Given the description of an element on the screen output the (x, y) to click on. 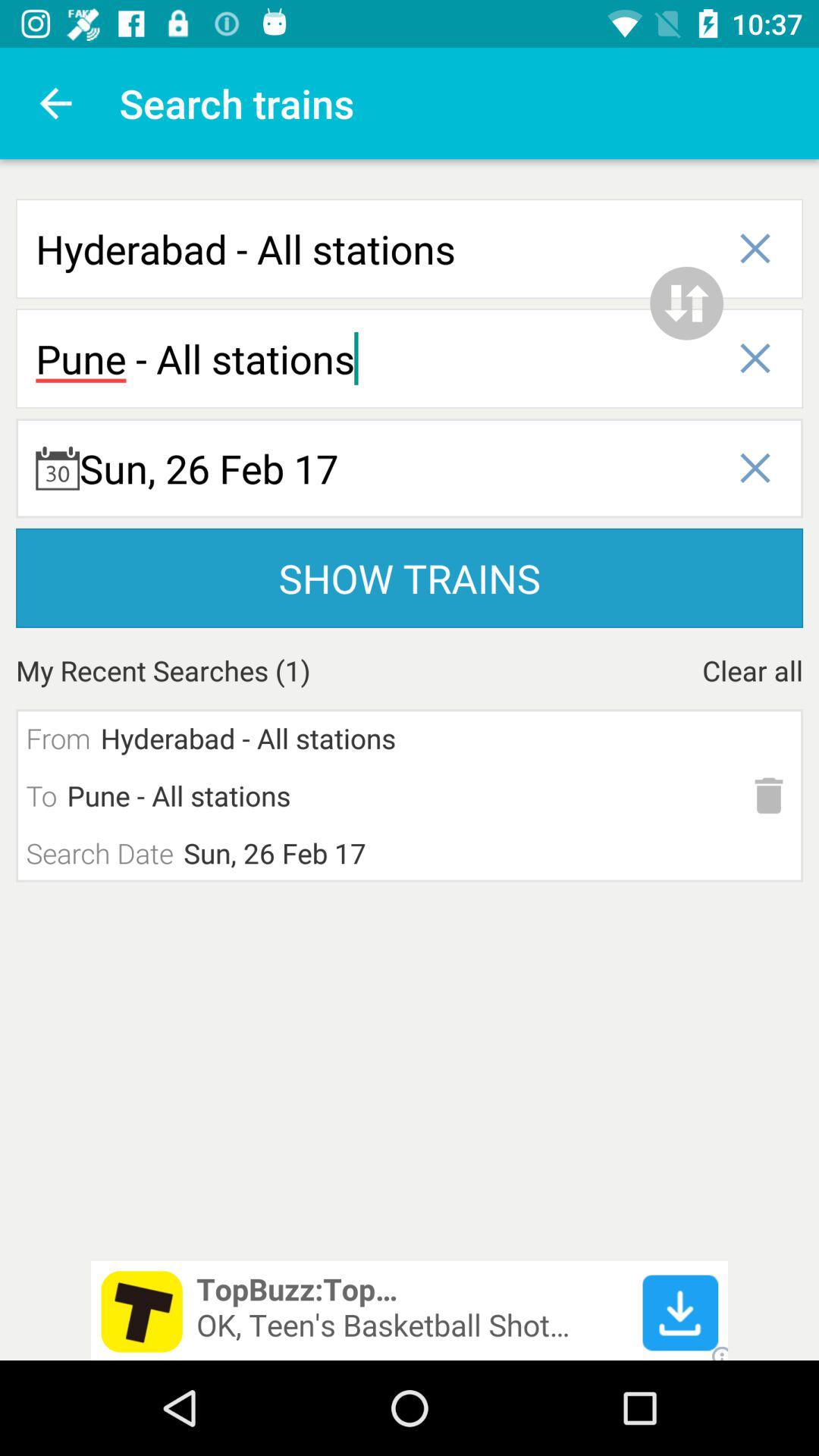
open advertisements (409, 1310)
